Given the description of an element on the screen output the (x, y) to click on. 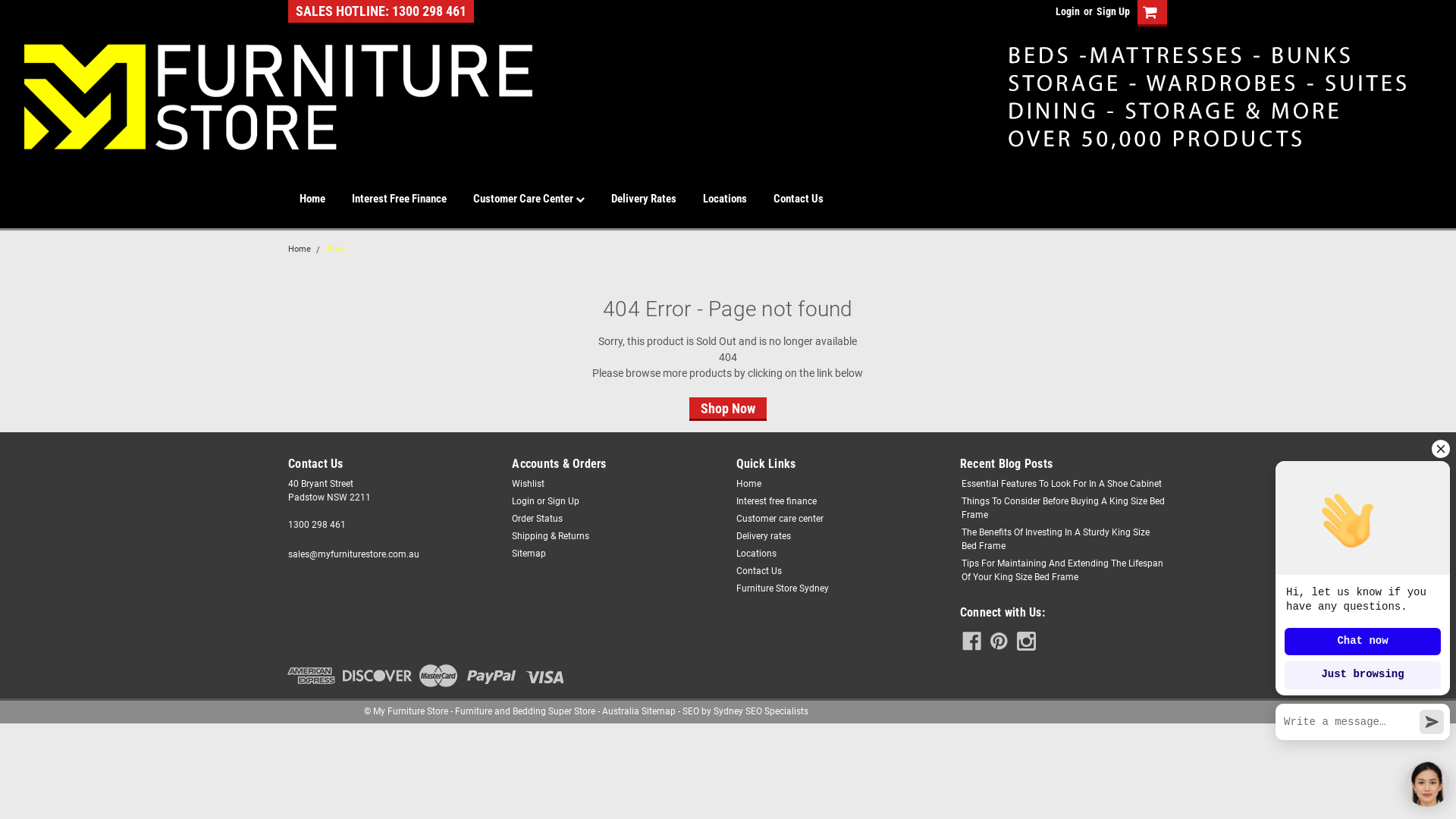
Sign Up Element type: text (563, 501)
Interest free finance Element type: text (775, 501)
Shipping & Returns Element type: text (550, 535)
Contact Us Element type: text (758, 570)
Sign Up Element type: text (1110, 11)
1300 298 461 Element type: text (316, 524)
Login Element type: text (522, 501)
Customer care center Element type: text (778, 518)
Customer Care Center Element type: text (542, 198)
Locations Element type: text (755, 553)
Sitemap Element type: text (528, 553)
Order Status Element type: text (536, 518)
Locations Element type: text (737, 198)
40 Bryant Street
Padstow NSW 2211 Element type: text (329, 490)
Contact Us Element type: text (811, 198)
sales@myfurniturestore.com.au Element type: text (353, 554)
SALES HOTLINE: 1300 298 461 Element type: text (380, 10)
The Benefits Of Investing In A Sturdy King Size Bed Frame Element type: text (1063, 538)
Home Element type: text (325, 198)
Sydney SEO Specialists Element type: text (760, 711)
Essential Features To Look For In A Shoe Cabinet Element type: text (1061, 483)
Furniture Store Sydney Element type: text (781, 588)
Login Element type: text (1067, 11)
Shop Now Element type: text (727, 408)
Error Element type: text (336, 249)
Things To Consider Before Buying A King Size Bed Frame Element type: text (1063, 507)
Delivery Rates Element type: text (656, 198)
Sitemap Element type: text (658, 711)
Wishlist Element type: text (527, 483)
Interest Free Finance Element type: text (412, 198)
Delivery rates Element type: text (762, 535)
Home Element type: text (747, 483)
Home Element type: text (299, 249)
